Given the description of an element on the screen output the (x, y) to click on. 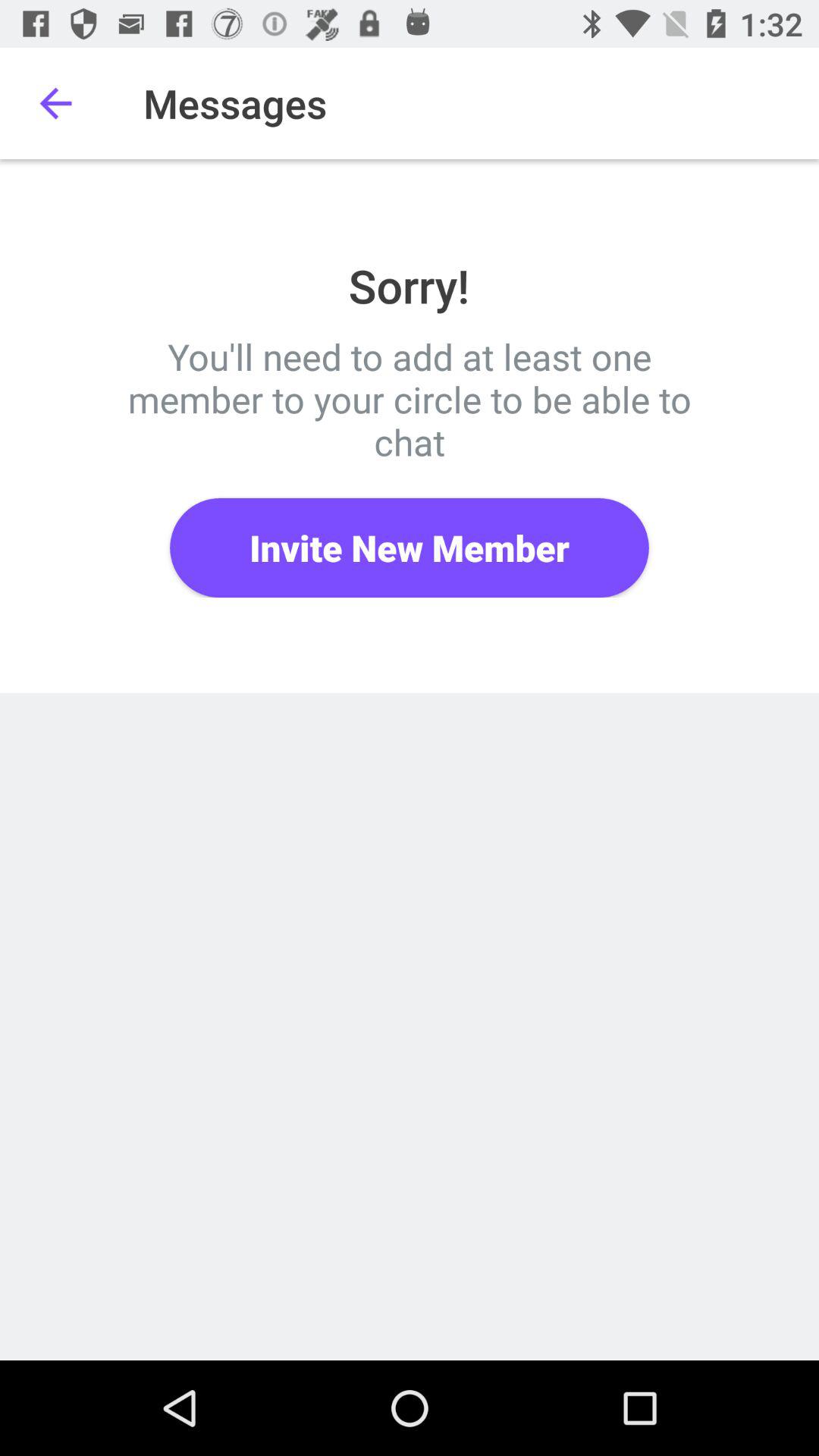
press item next to the messages (55, 103)
